Given the description of an element on the screen output the (x, y) to click on. 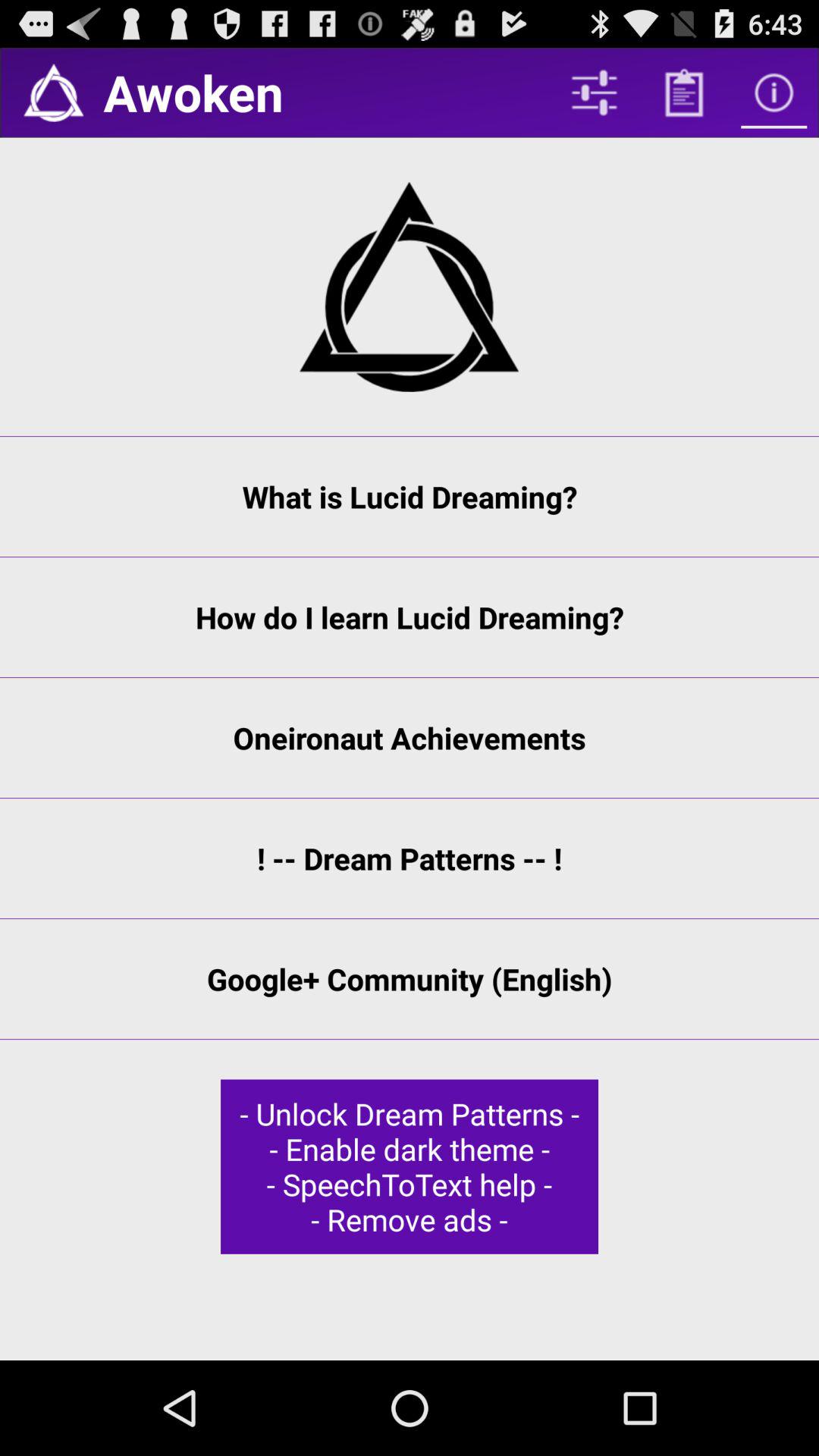
more information (774, 92)
